Given the description of an element on the screen output the (x, y) to click on. 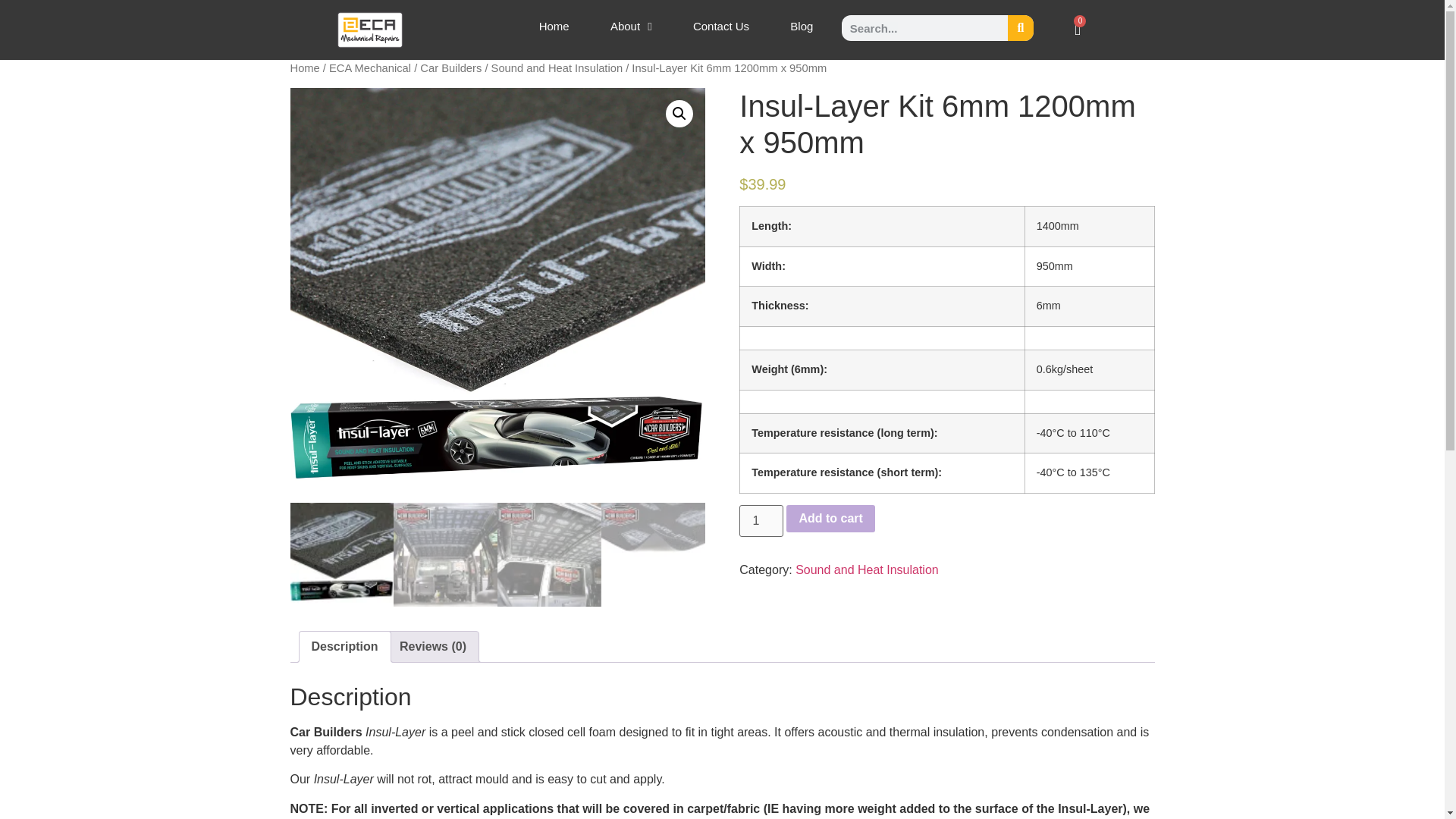
About (630, 26)
Blog (801, 26)
0 (1078, 28)
Home (553, 26)
Contact Us (721, 26)
1 (761, 521)
